Given the description of an element on the screen output the (x, y) to click on. 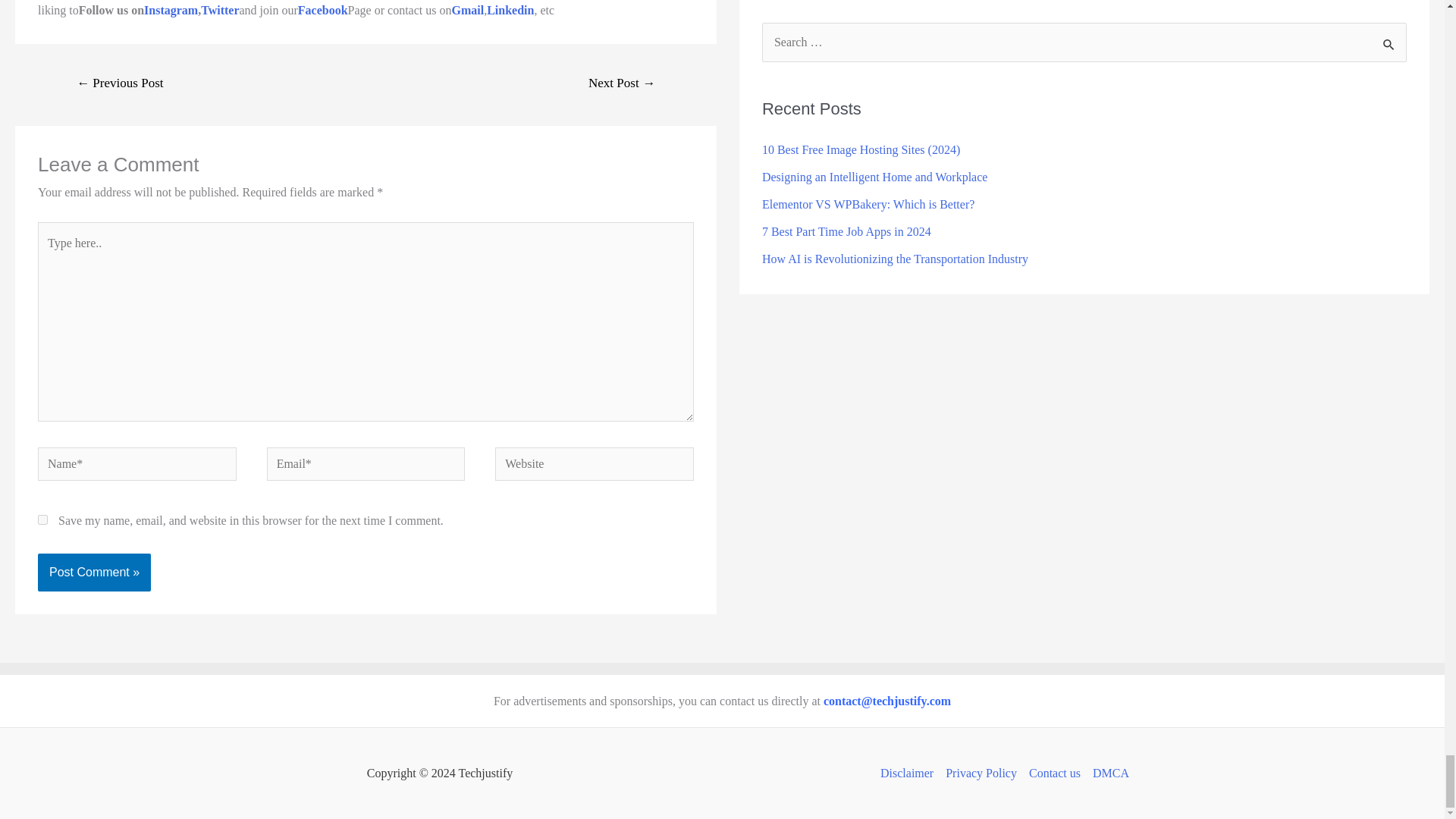
yes (42, 519)
